Given the description of an element on the screen output the (x, y) to click on. 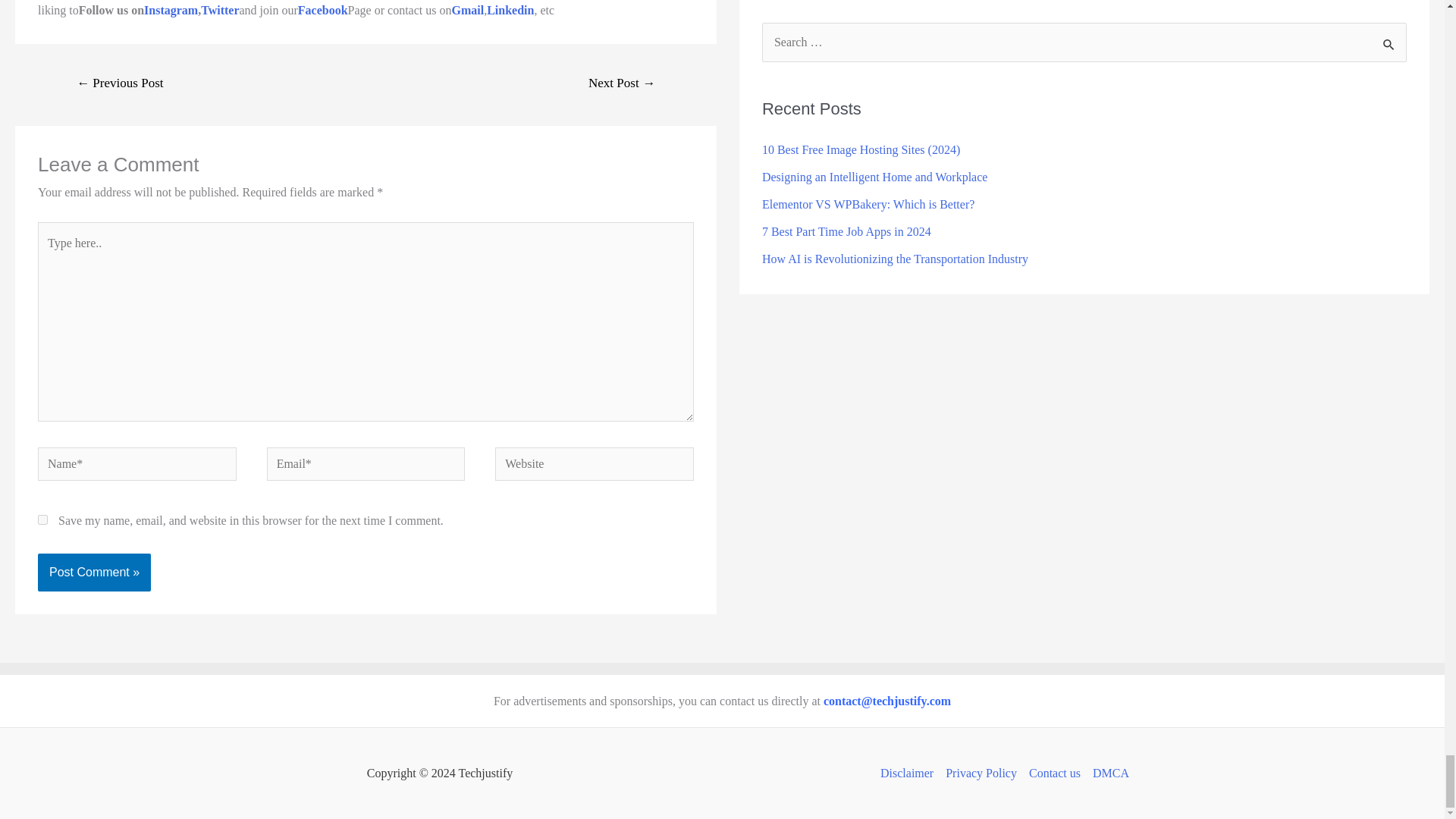
yes (42, 519)
